Given the description of an element on the screen output the (x, y) to click on. 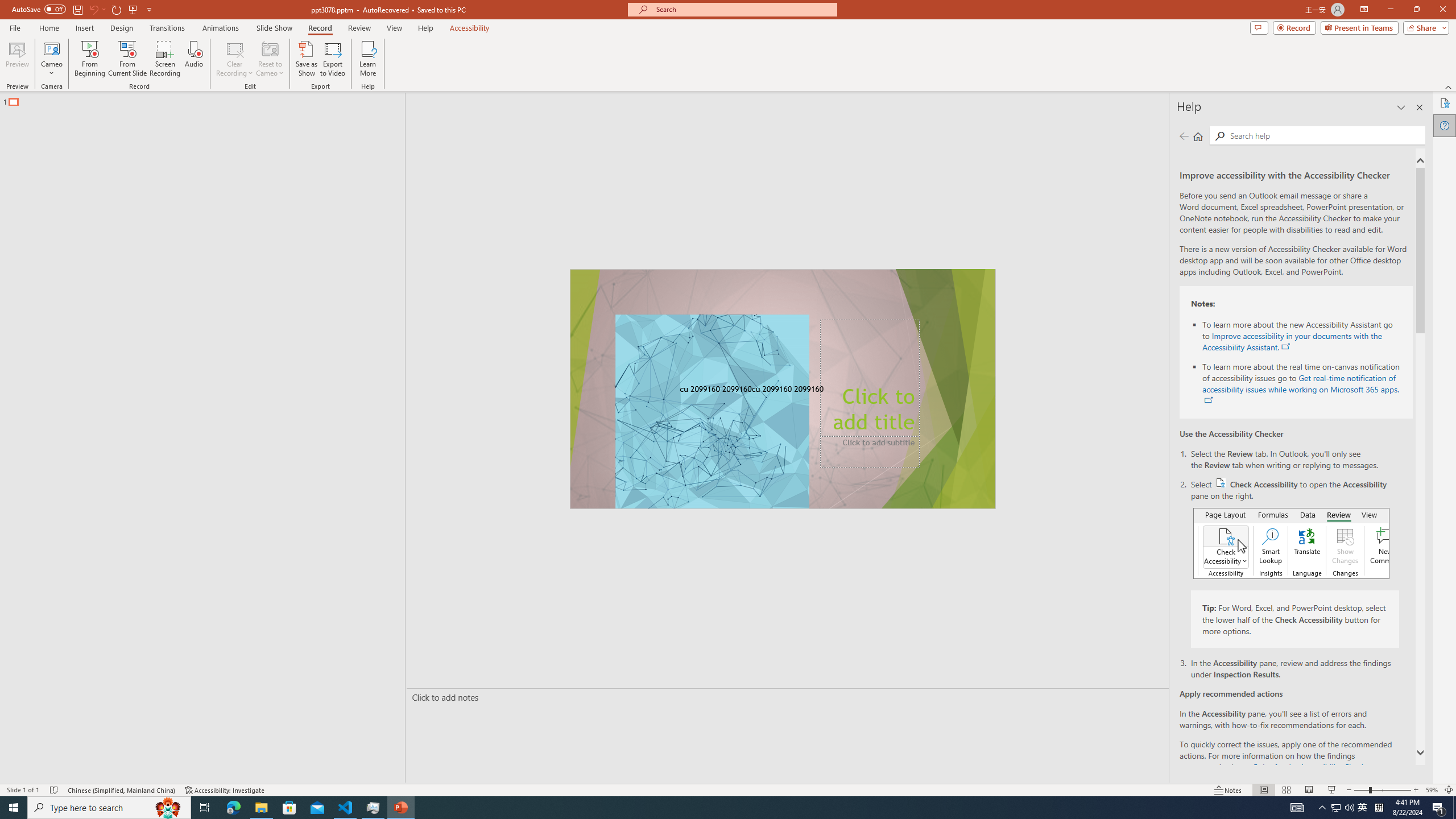
Accessibility checker button on ribbon (1291, 543)
An abstract genetic concept (782, 388)
Title TextBox (869, 377)
Save as Show (306, 58)
